Given the description of an element on the screen output the (x, y) to click on. 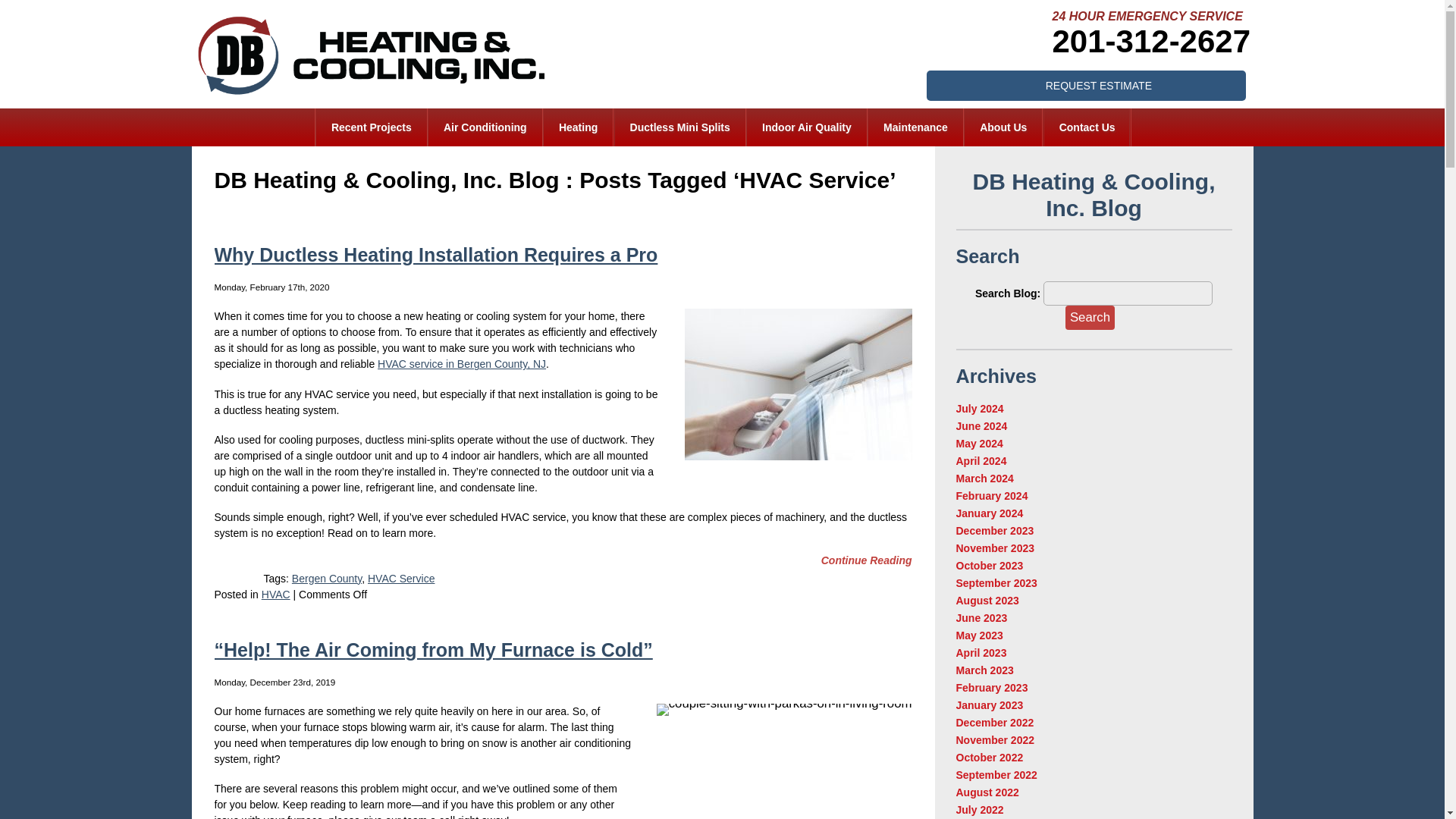
Recent Projects (370, 127)
REQUEST ESTIMATE (1086, 85)
Heating (577, 127)
201-312-2627 (1151, 40)
Air Conditioning (484, 127)
